Given the description of an element on the screen output the (x, y) to click on. 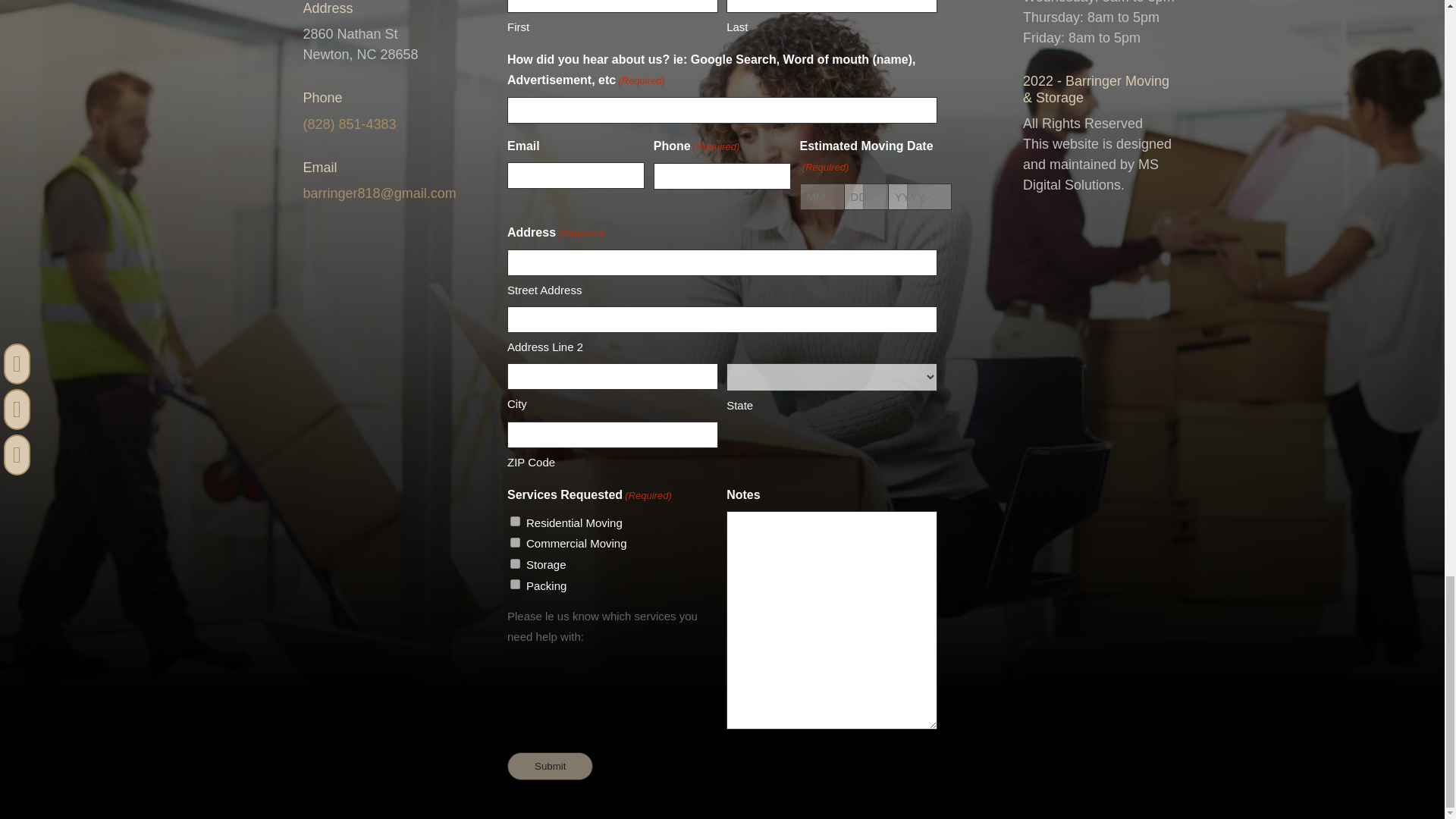
Commercial Moving (515, 542)
Packing (515, 583)
Submit (549, 766)
Residential Moving (515, 521)
Storage (515, 563)
